Given the description of an element on the screen output the (x, y) to click on. 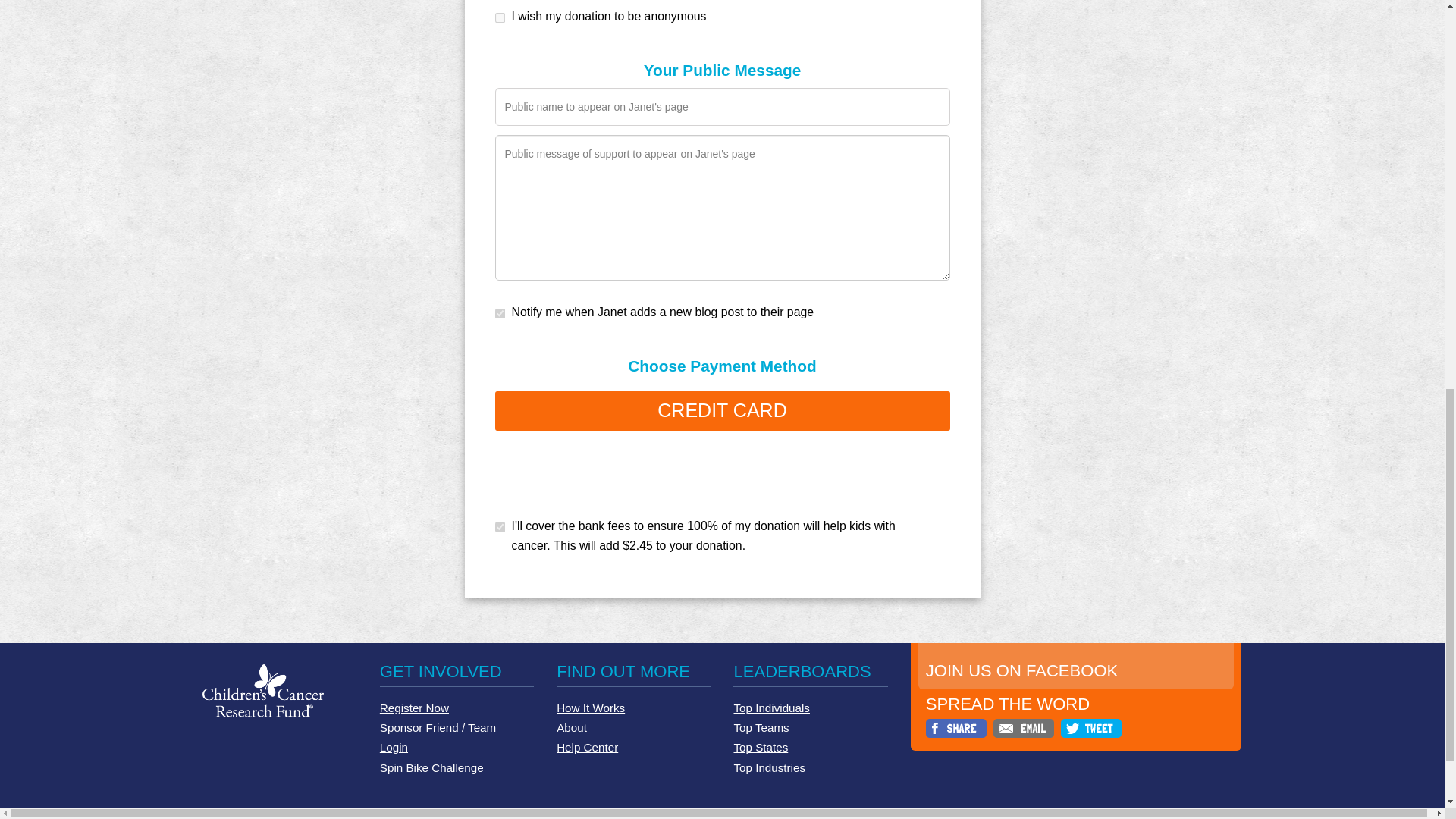
true (454, 210)
true (454, 405)
